Given the description of an element on the screen output the (x, y) to click on. 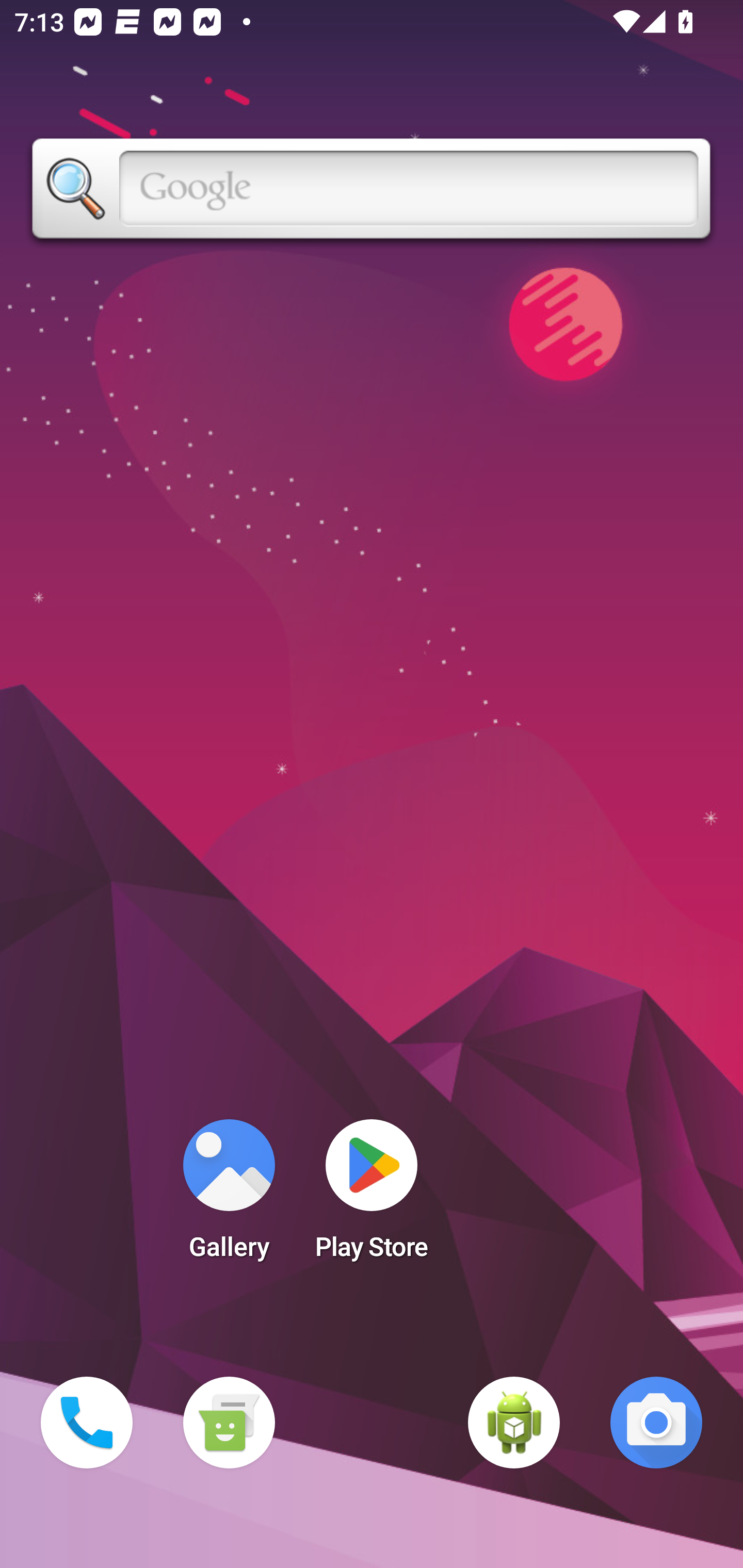
Gallery (228, 1195)
Play Store (371, 1195)
Phone (86, 1422)
Messaging (228, 1422)
WebView Browser Tester (513, 1422)
Camera (656, 1422)
